Given the description of an element on the screen output the (x, y) to click on. 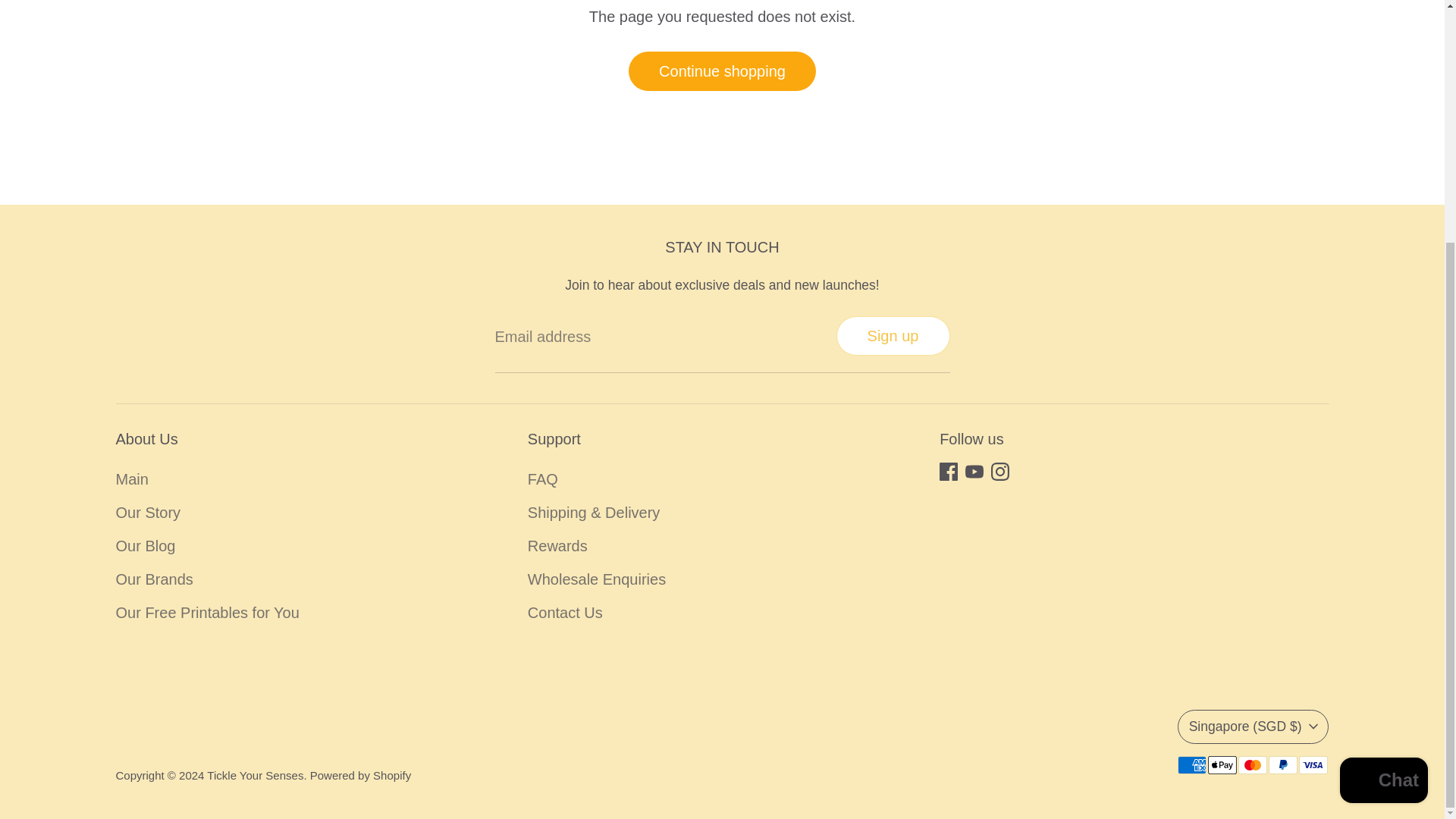
PayPal (1282, 764)
Mastercard (1251, 764)
Visa (1312, 764)
American Express (1190, 764)
Apple Pay (1221, 764)
Shopify online store chat (1383, 445)
